Given the description of an element on the screen output the (x, y) to click on. 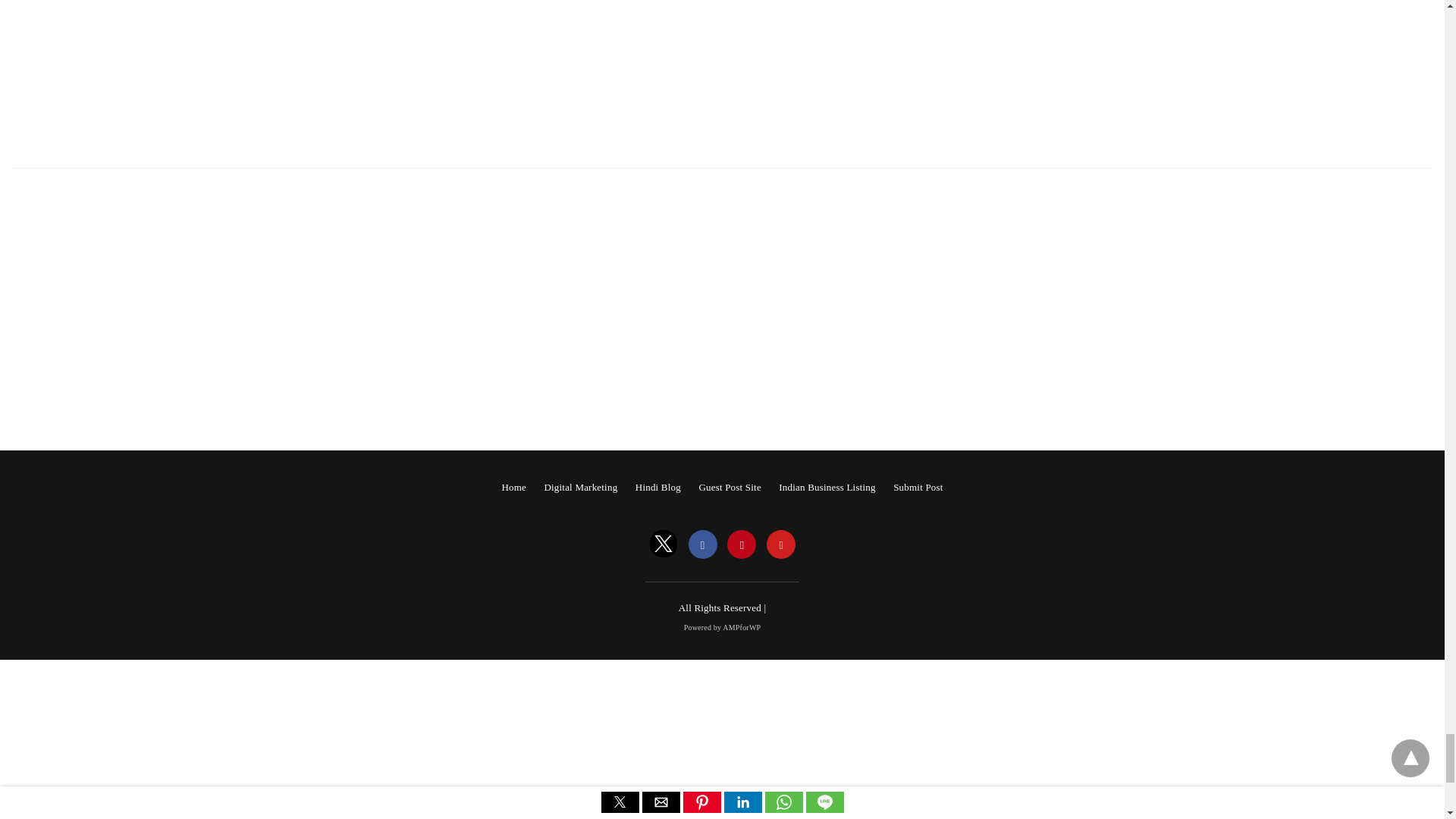
Indian Business Listing (826, 487)
Digital Marketing (580, 487)
Guest Post Site (729, 487)
Hindi Blog (657, 487)
Home (512, 487)
